Given the description of an element on the screen output the (x, y) to click on. 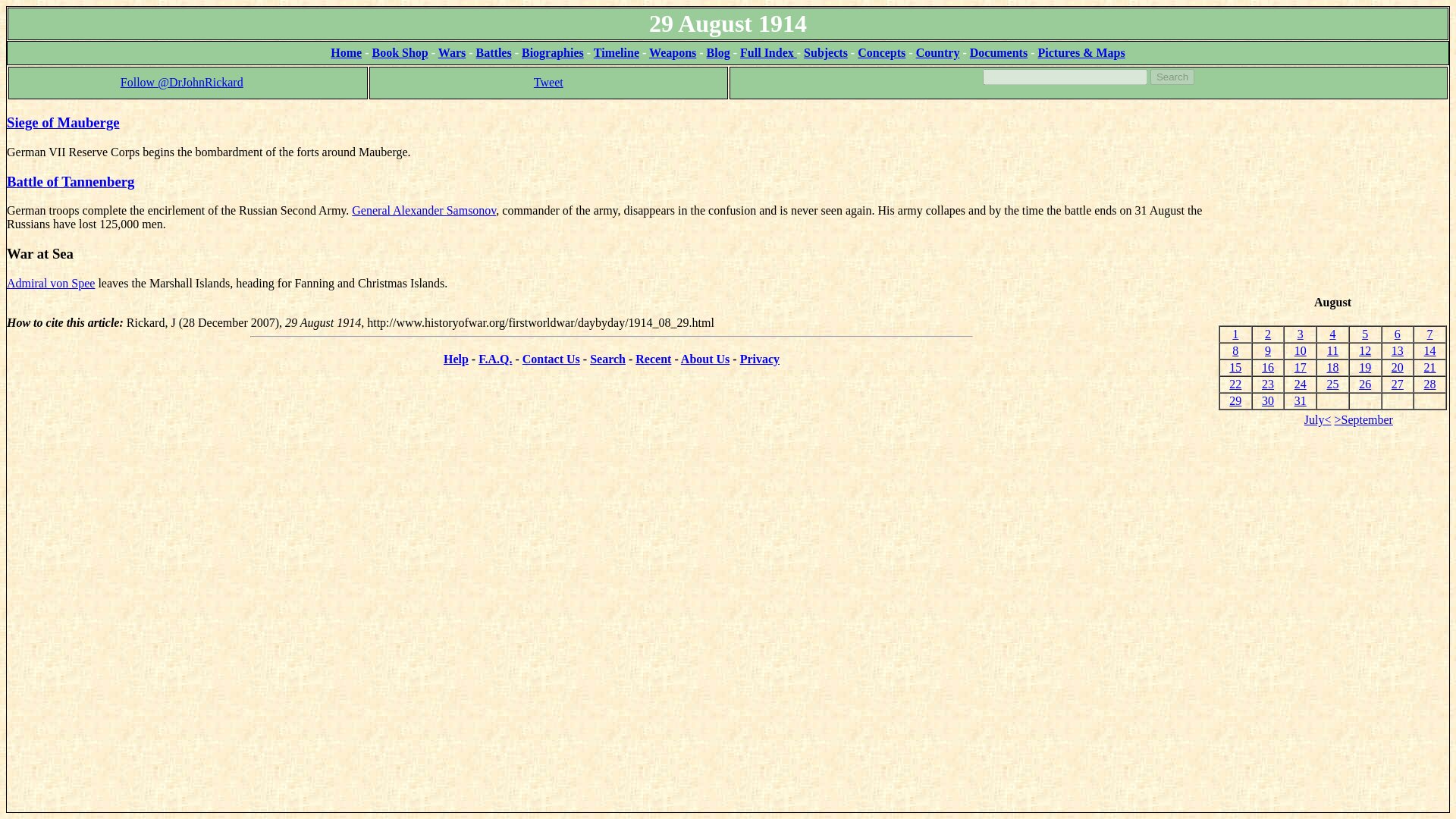
18 (1332, 367)
17 (1300, 367)
Concepts (881, 51)
Index of articles on Battles (494, 51)
Index of articles on Wars (451, 51)
12 (1364, 350)
Blog (718, 51)
Main Index of articles (767, 51)
Subjects (825, 51)
Timeline of Military History (616, 51)
21 (1429, 367)
20 (1397, 367)
Biographies (552, 51)
Index of articles on military concepts (881, 51)
14 (1429, 350)
